Given the description of an element on the screen output the (x, y) to click on. 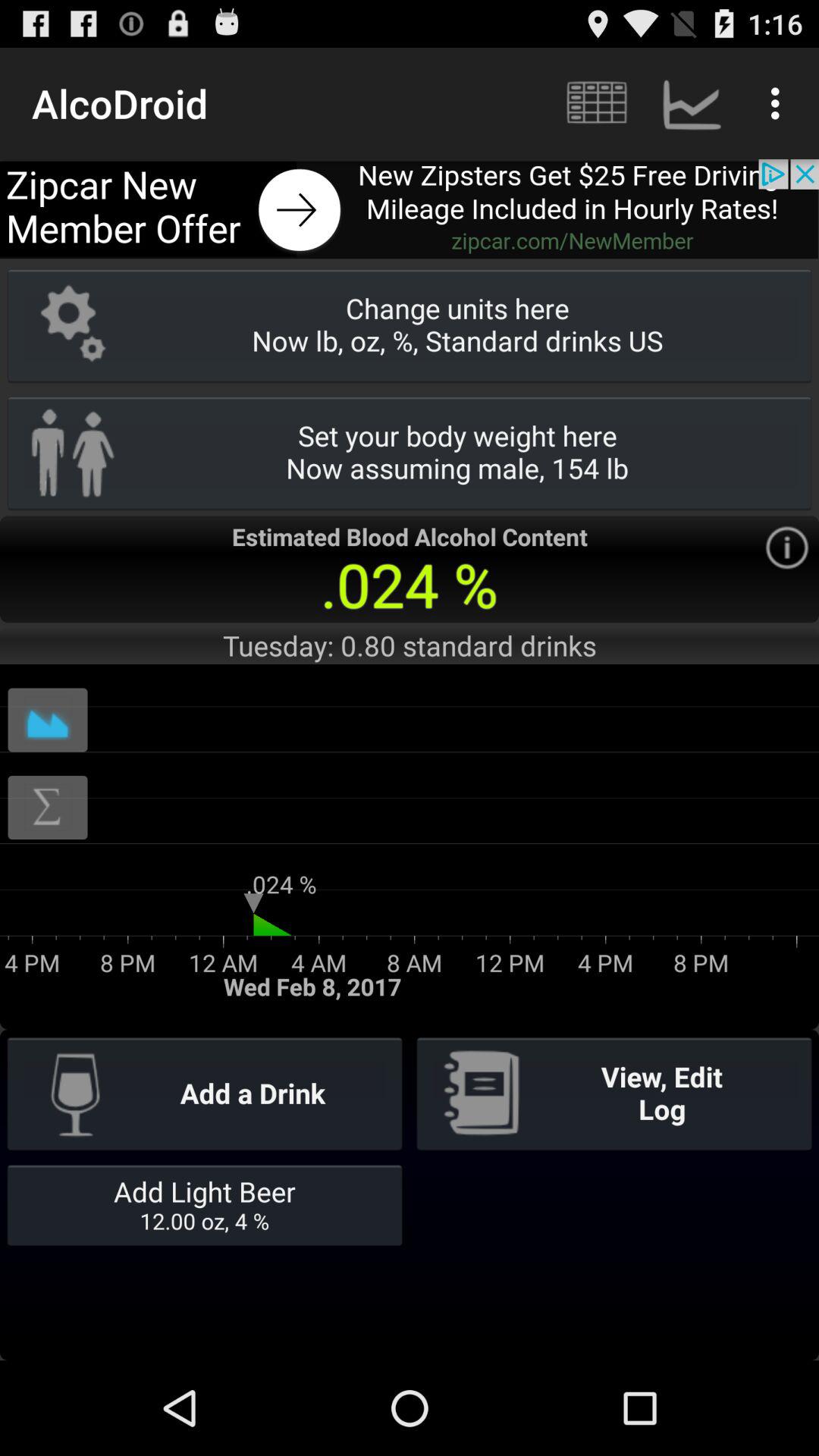
see more information (787, 547)
